Given the description of an element on the screen output the (x, y) to click on. 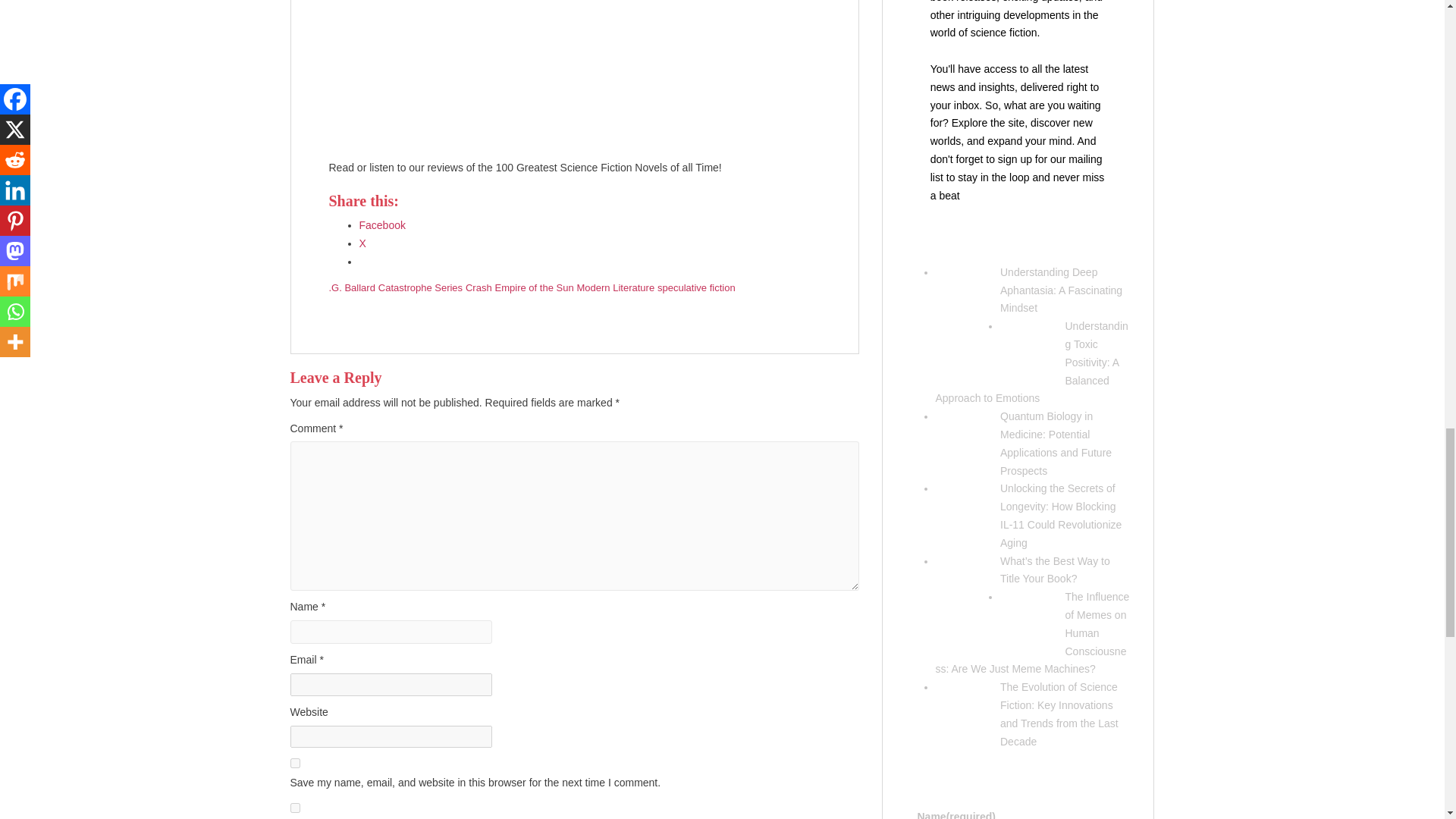
subscribe (294, 808)
Click to share on X (362, 243)
yes (294, 763)
Click to share on Facebook (382, 224)
